Given the description of an element on the screen output the (x, y) to click on. 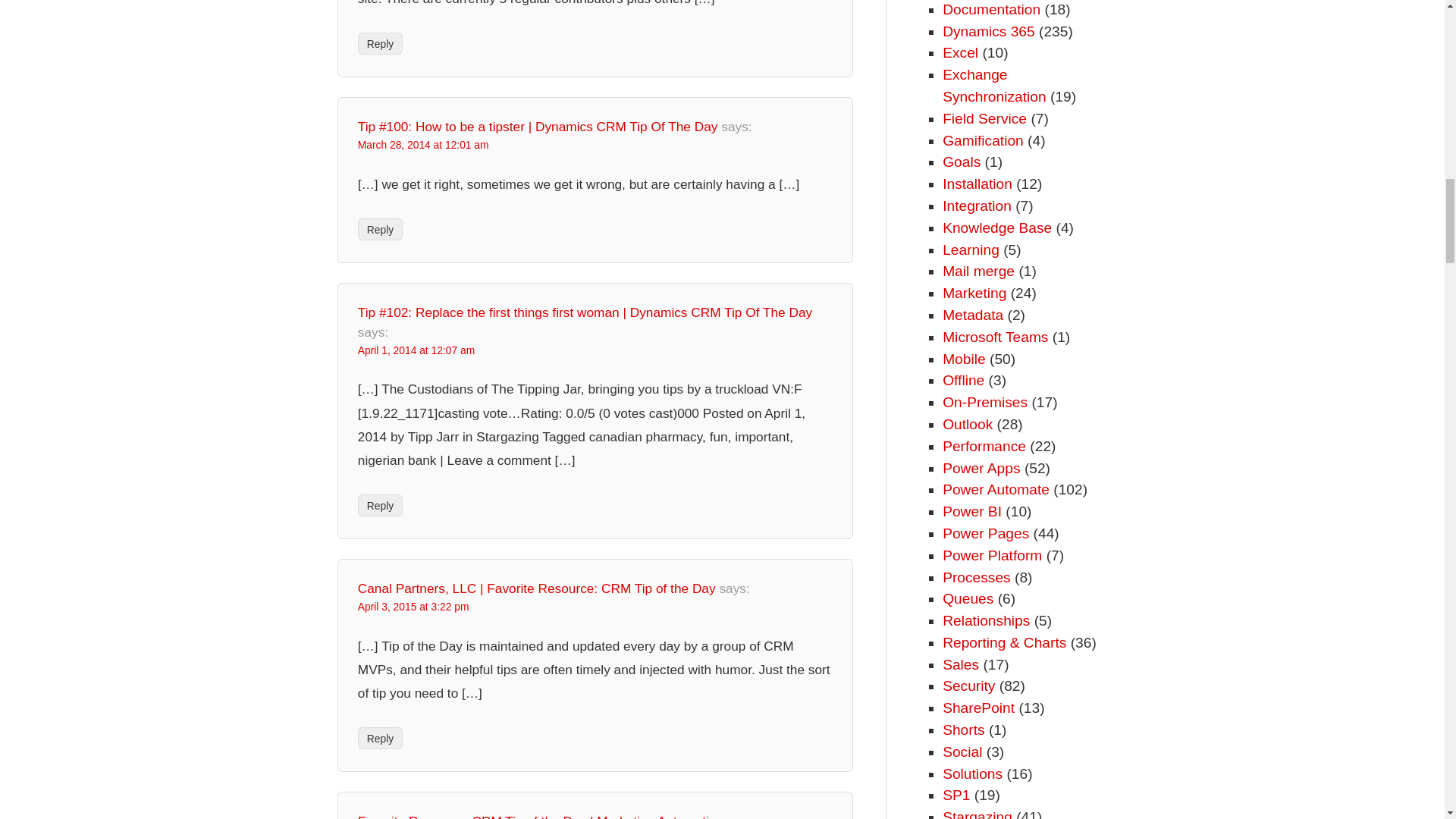
Reply (380, 738)
Reply (380, 229)
Reply (380, 505)
April 3, 2015 at 3:22 pm (413, 606)
Reply (380, 43)
March 28, 2014 at 12:01 am (423, 144)
April 1, 2014 at 12:07 am (416, 349)
